Given the description of an element on the screen output the (x, y) to click on. 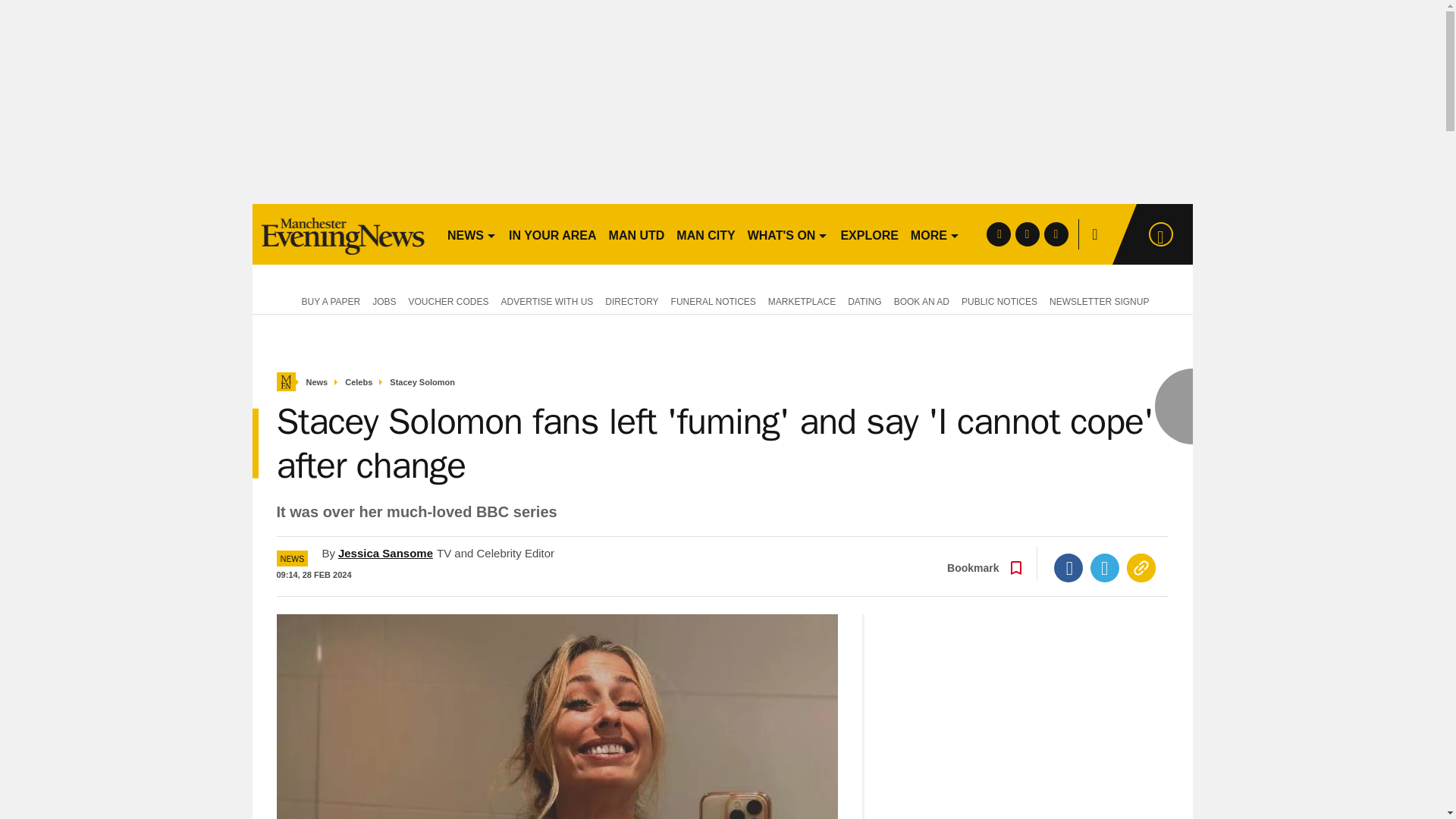
NEWS (471, 233)
Twitter (1104, 567)
men (342, 233)
facebook (997, 233)
WHAT'S ON (787, 233)
instagram (1055, 233)
MAN CITY (705, 233)
twitter (1026, 233)
MAN UTD (636, 233)
IN YOUR AREA (552, 233)
